Given the description of an element on the screen output the (x, y) to click on. 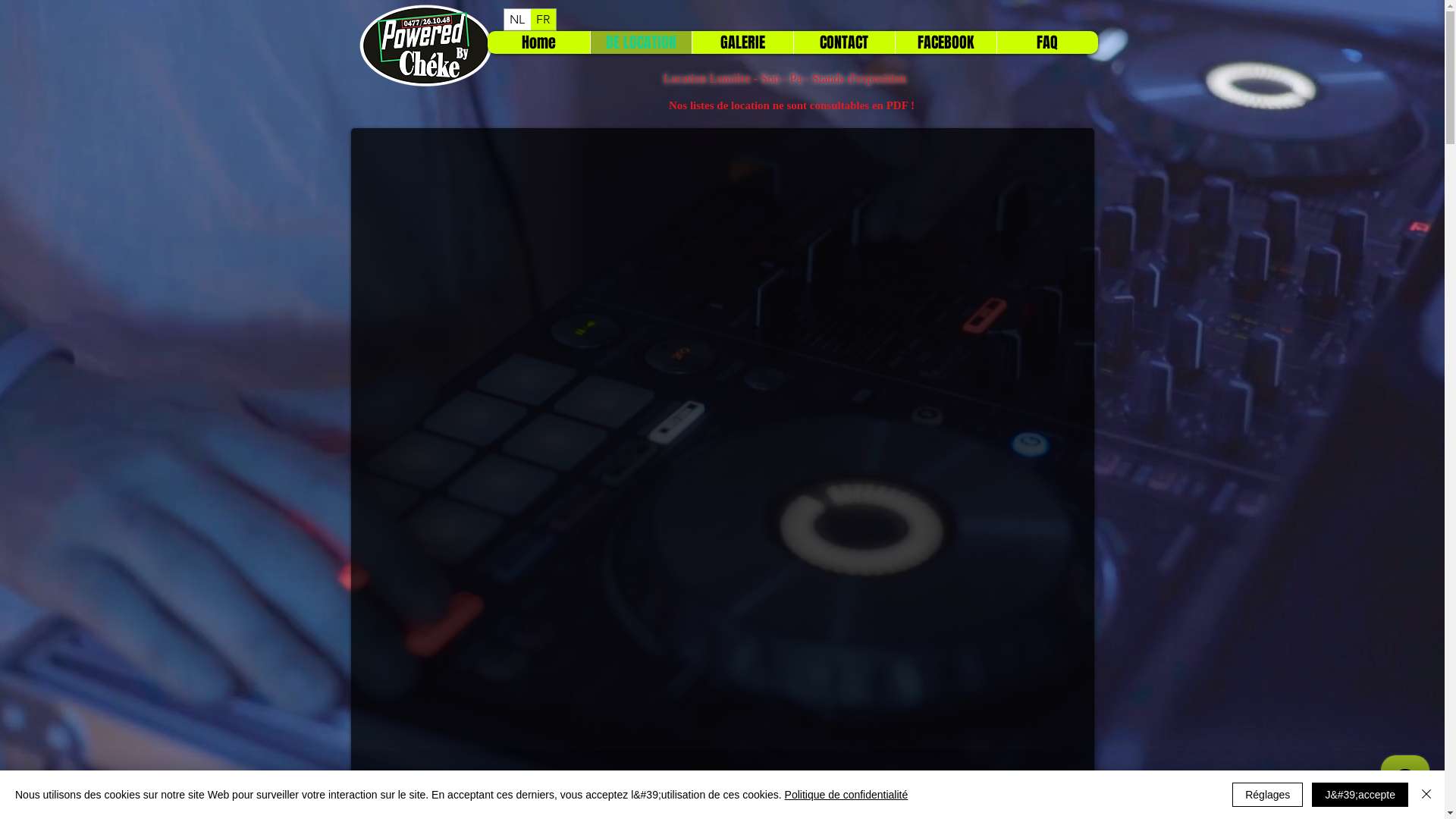
FACEBOOK Element type: text (945, 42)
DE LOCATION Element type: text (640, 42)
FR Element type: text (542, 19)
CONTACT Element type: text (843, 42)
FAQ Element type: text (1047, 42)
Nos listes de location ne sont consultables en PDF ! Element type: text (791, 105)
GALERIE Element type: text (742, 42)
Home Element type: text (537, 42)
NL Element type: text (516, 19)
J&#39;accepte Element type: text (1359, 794)
